Given the description of an element on the screen output the (x, y) to click on. 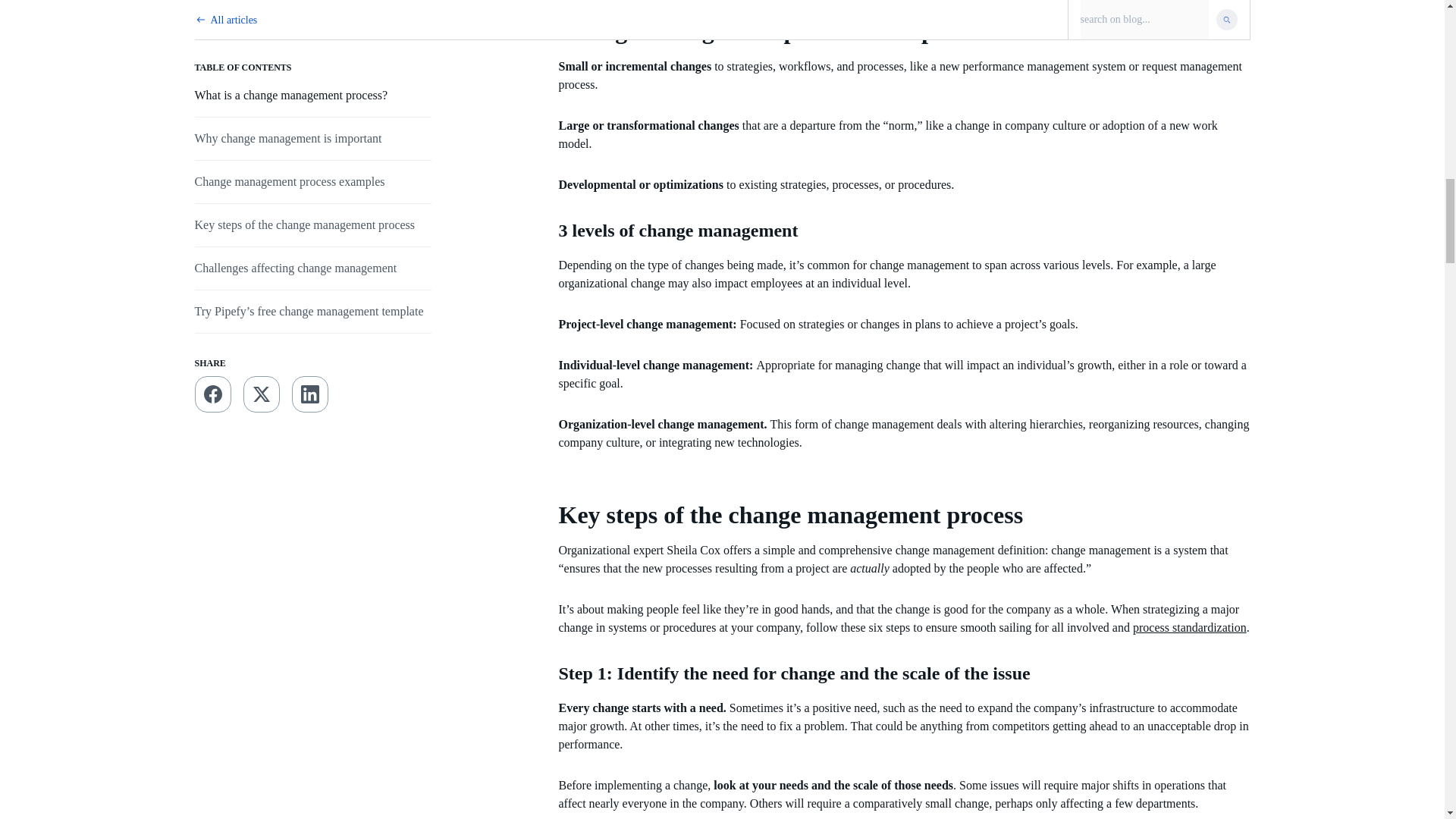
process standardization (1189, 626)
